Given the description of an element on the screen output the (x, y) to click on. 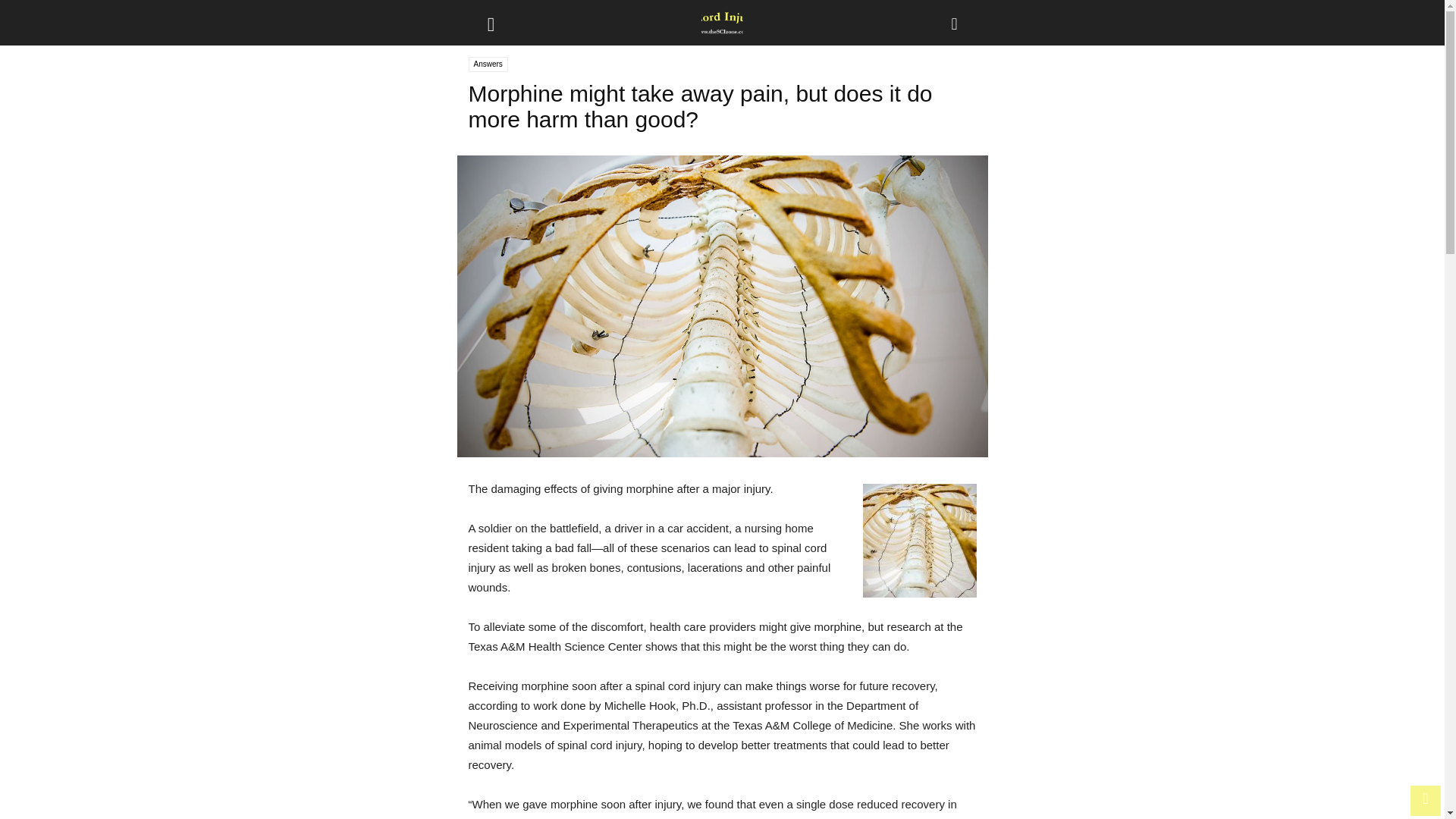
The Spinal Cord Injury Zone (722, 22)
The Spinal Cord Injury Zone (721, 22)
Answers (488, 64)
